Given the description of an element on the screen output the (x, y) to click on. 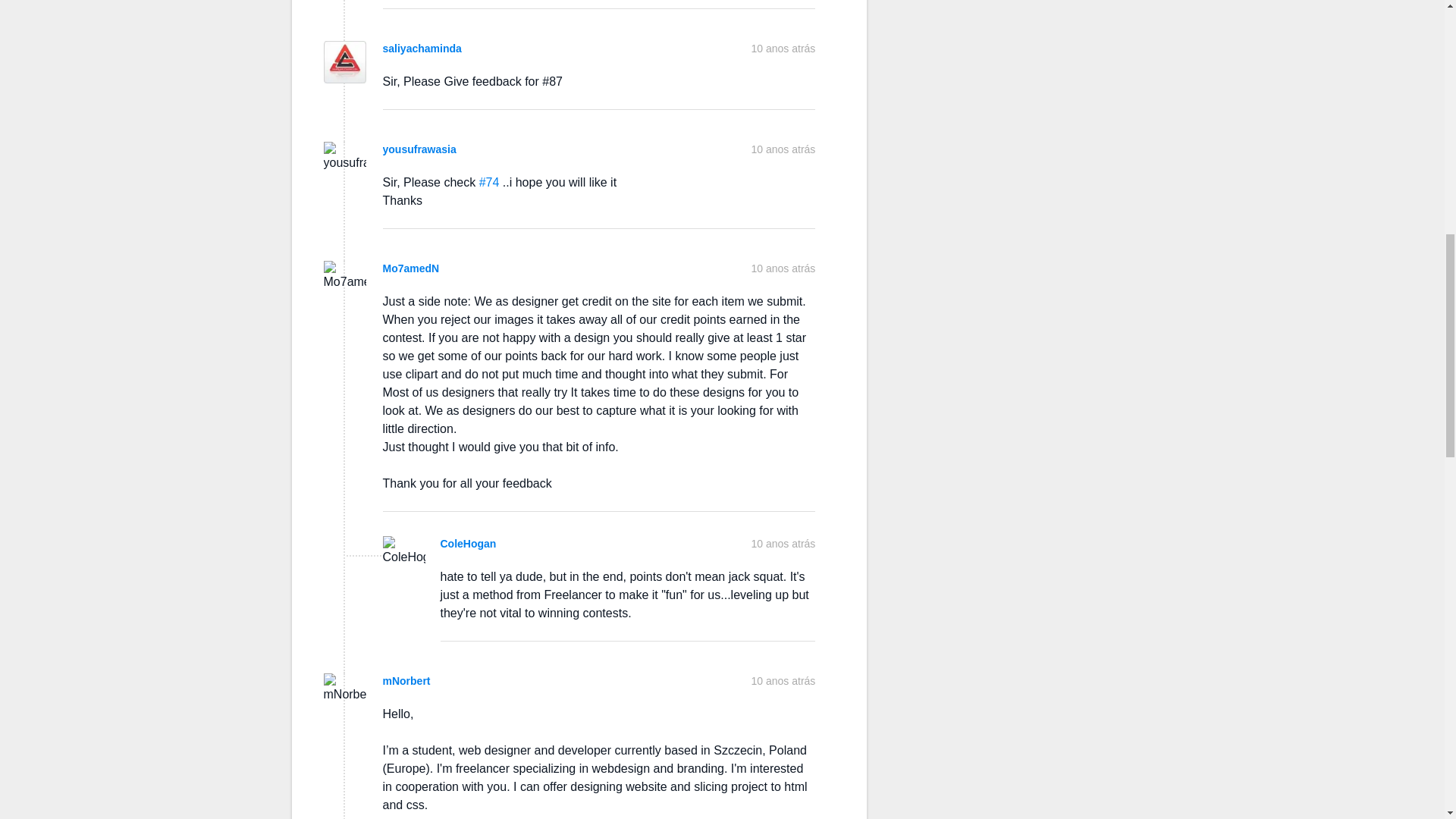
Mo7amedN (410, 268)
ColeHogan (467, 543)
saliyachaminda (421, 48)
yousufrawasia (418, 149)
mNorbert (405, 680)
